Given the description of an element on the screen output the (x, y) to click on. 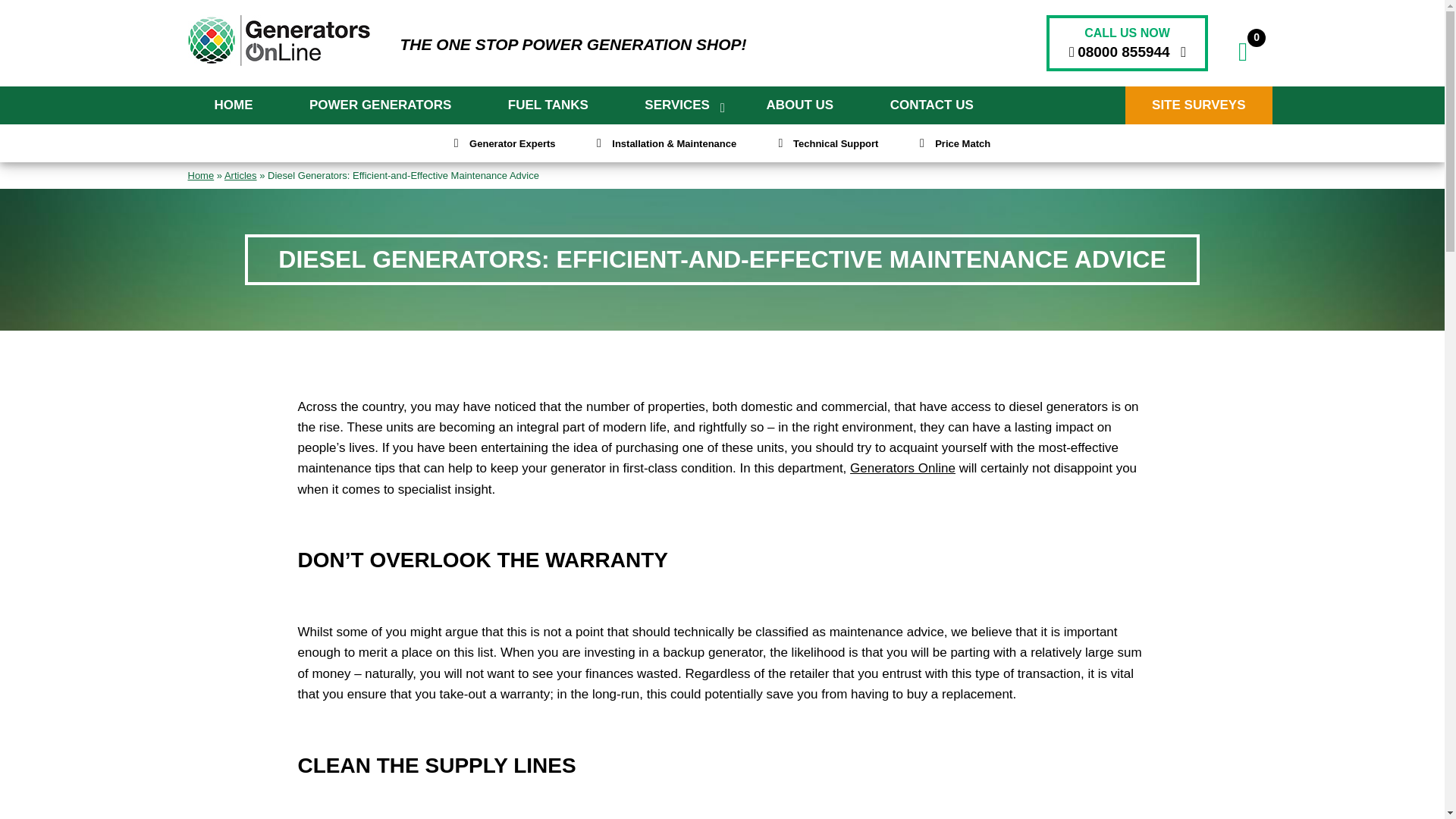
Home (200, 174)
Articles (240, 174)
Generators Online (902, 468)
FUEL TANKS (547, 105)
SERVICES (676, 105)
SITE SURVEYS (1198, 105)
ABOUT US (799, 105)
Generators OnLine (278, 40)
CONTACT US (931, 105)
HOME (233, 105)
